Given the description of an element on the screen output the (x, y) to click on. 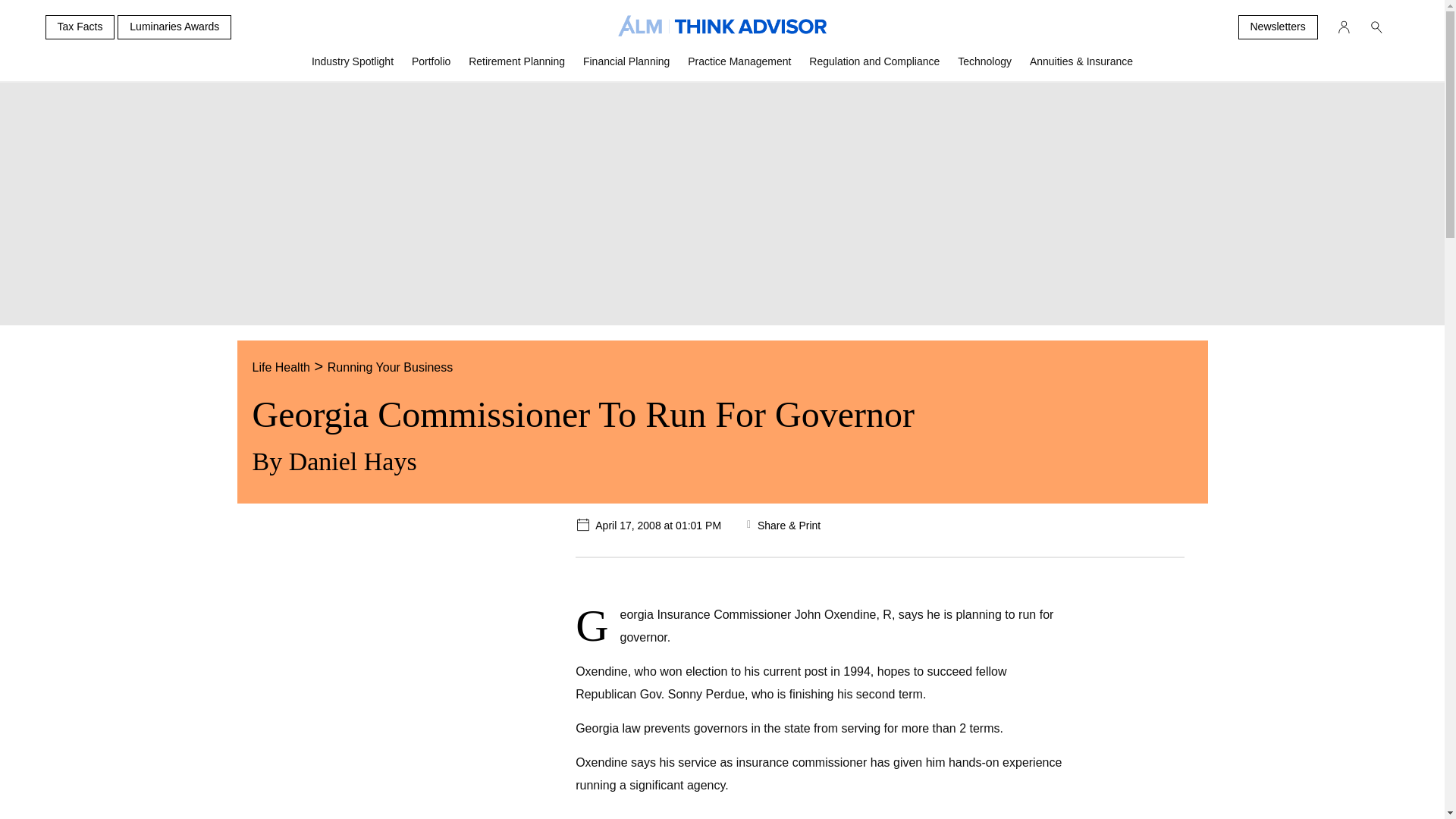
Luminaries Awards (174, 27)
Tax Facts (80, 27)
Industry Spotlight (352, 67)
Newsletters (1277, 27)
